Given the description of an element on the screen output the (x, y) to click on. 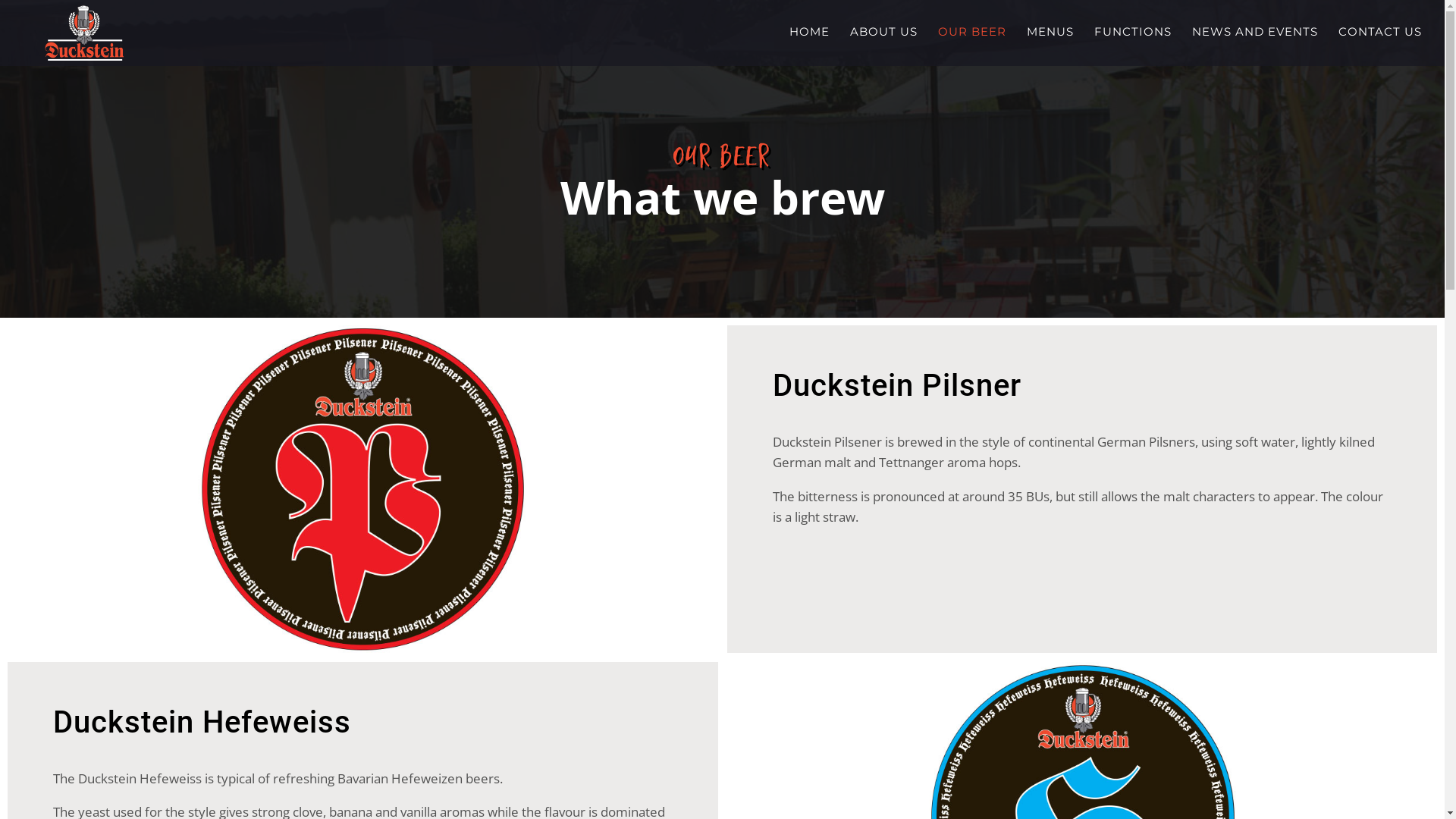
MENUS Element type: text (1049, 44)
HOME Element type: text (809, 45)
CONTACT US Element type: text (1379, 45)
ABOUT US Element type: text (883, 44)
NEWS AND EVENTS Element type: text (1254, 45)
FUNCTIONS Element type: text (1132, 44)
OUR BEER Element type: text (972, 45)
